Given the description of an element on the screen output the (x, y) to click on. 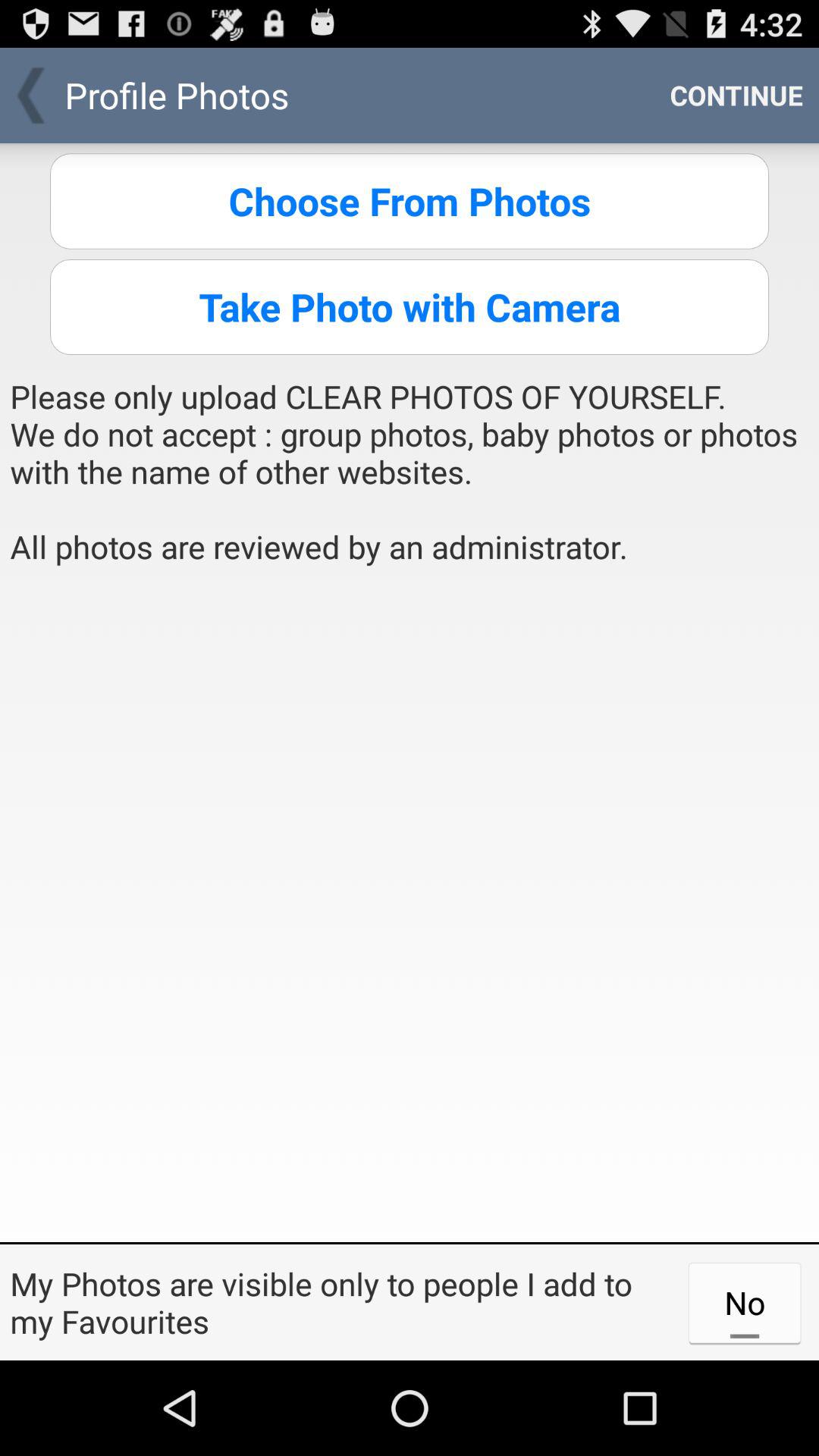
turn on the no icon (744, 1302)
